Given the description of an element on the screen output the (x, y) to click on. 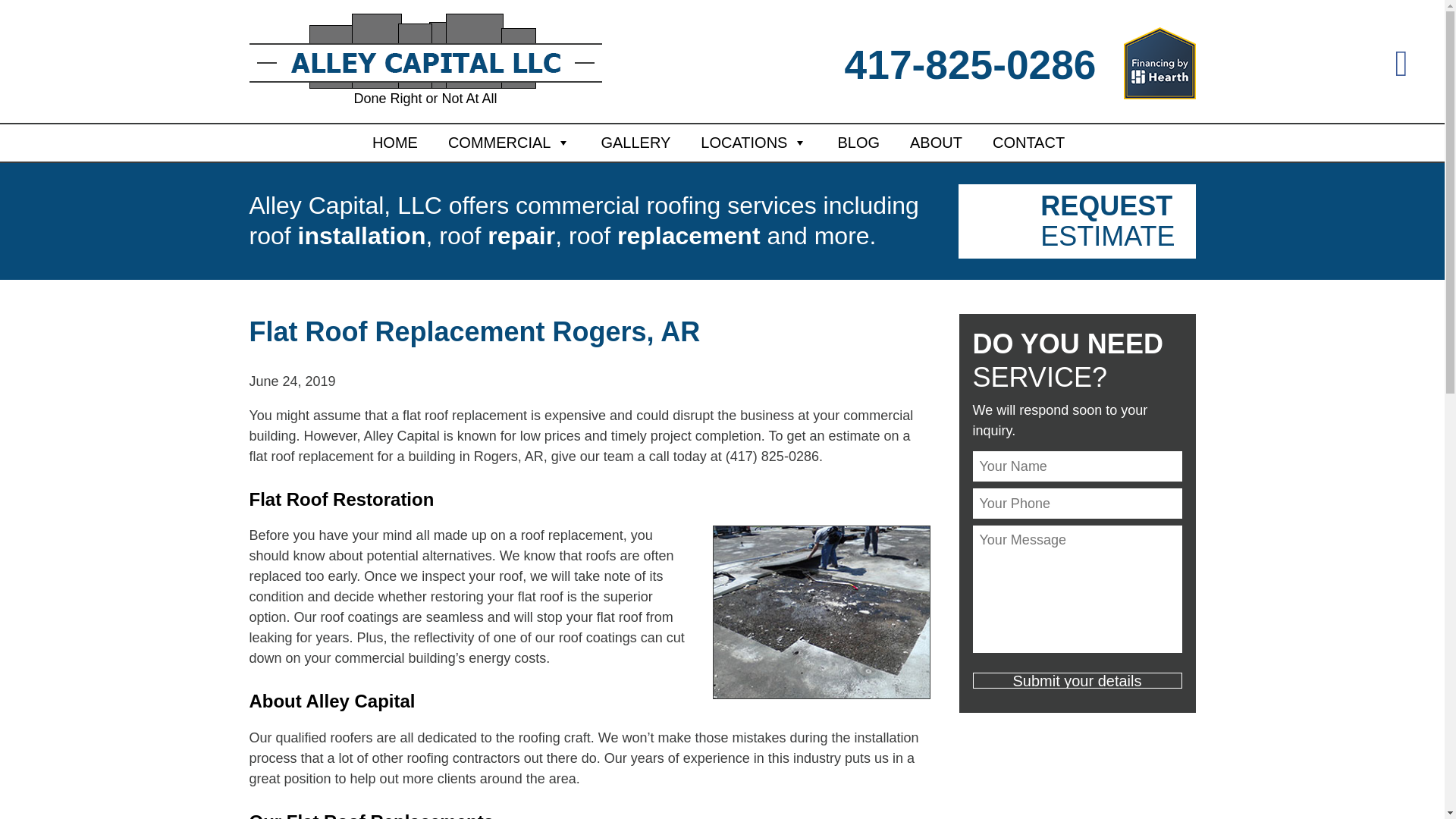
Submit your details (1076, 679)
Flat Roof Replacement Rogers, AR (474, 331)
Alley Capital LLC (424, 60)
417-825-0286 (970, 64)
Done Right or Not At All (424, 60)
HOME (395, 142)
COMMERCIAL (509, 142)
